Given the description of an element on the screen output the (x, y) to click on. 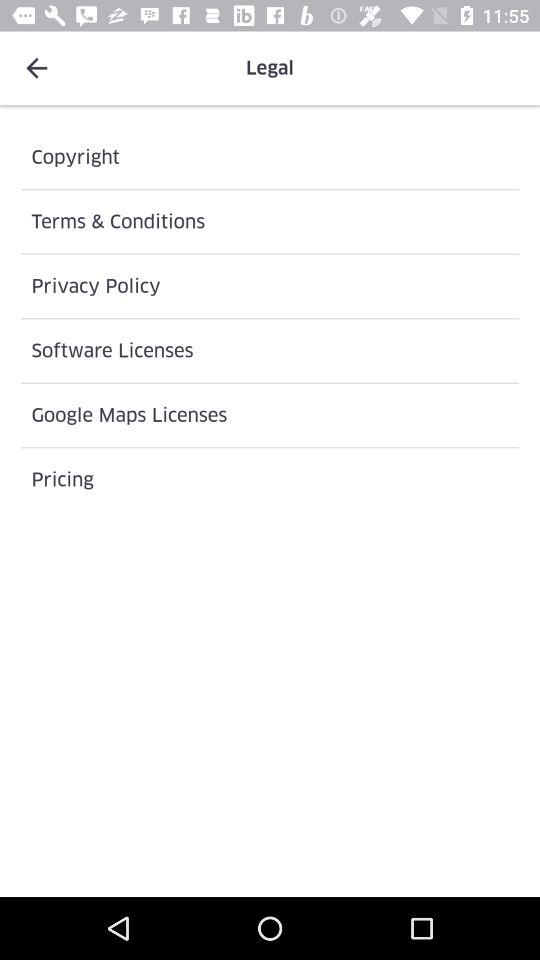
press copyright icon (270, 157)
